Given the description of an element on the screen output the (x, y) to click on. 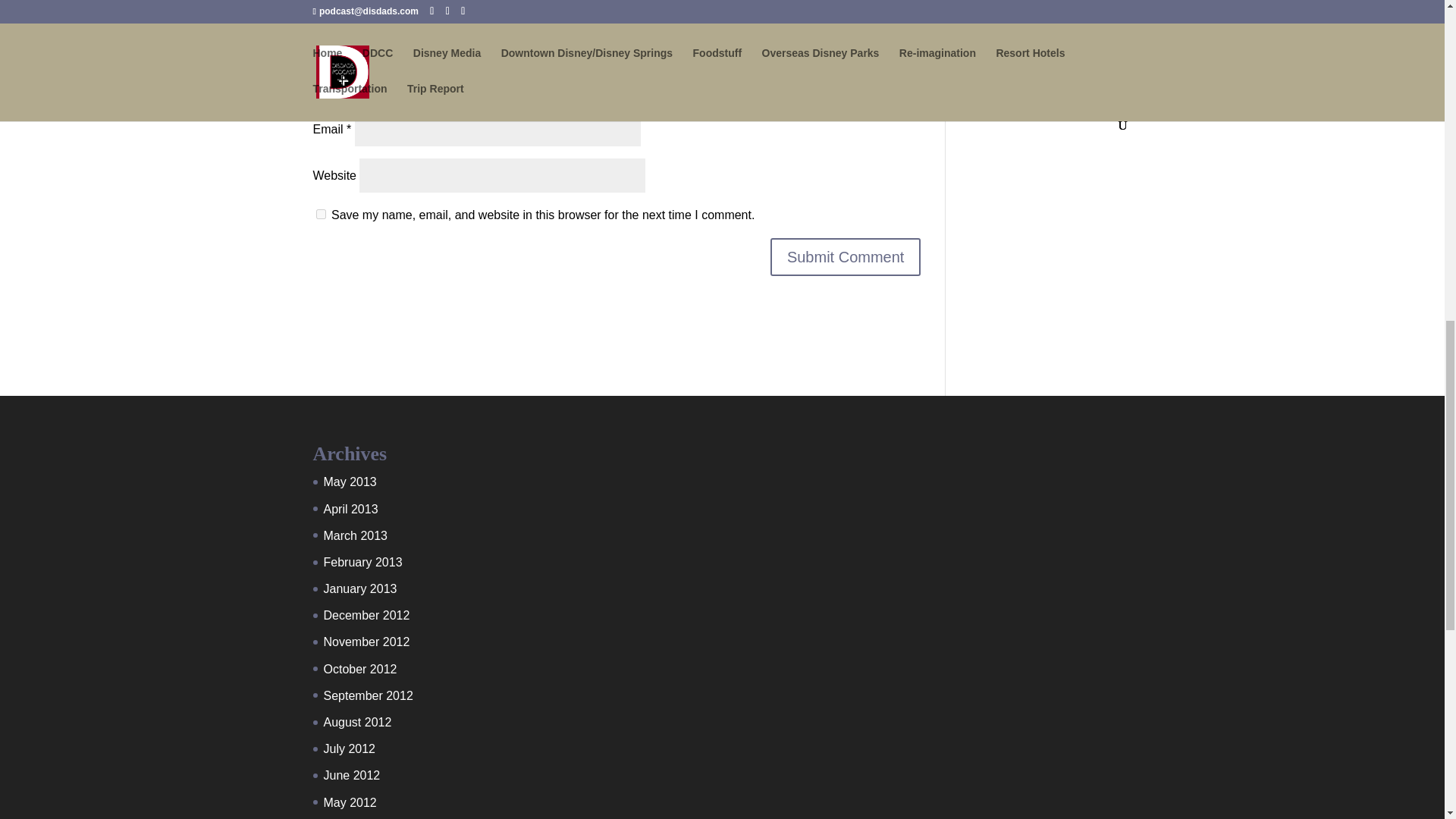
yes (319, 214)
Submit Comment (845, 257)
Submit Comment (845, 257)
